Given the description of an element on the screen output the (x, y) to click on. 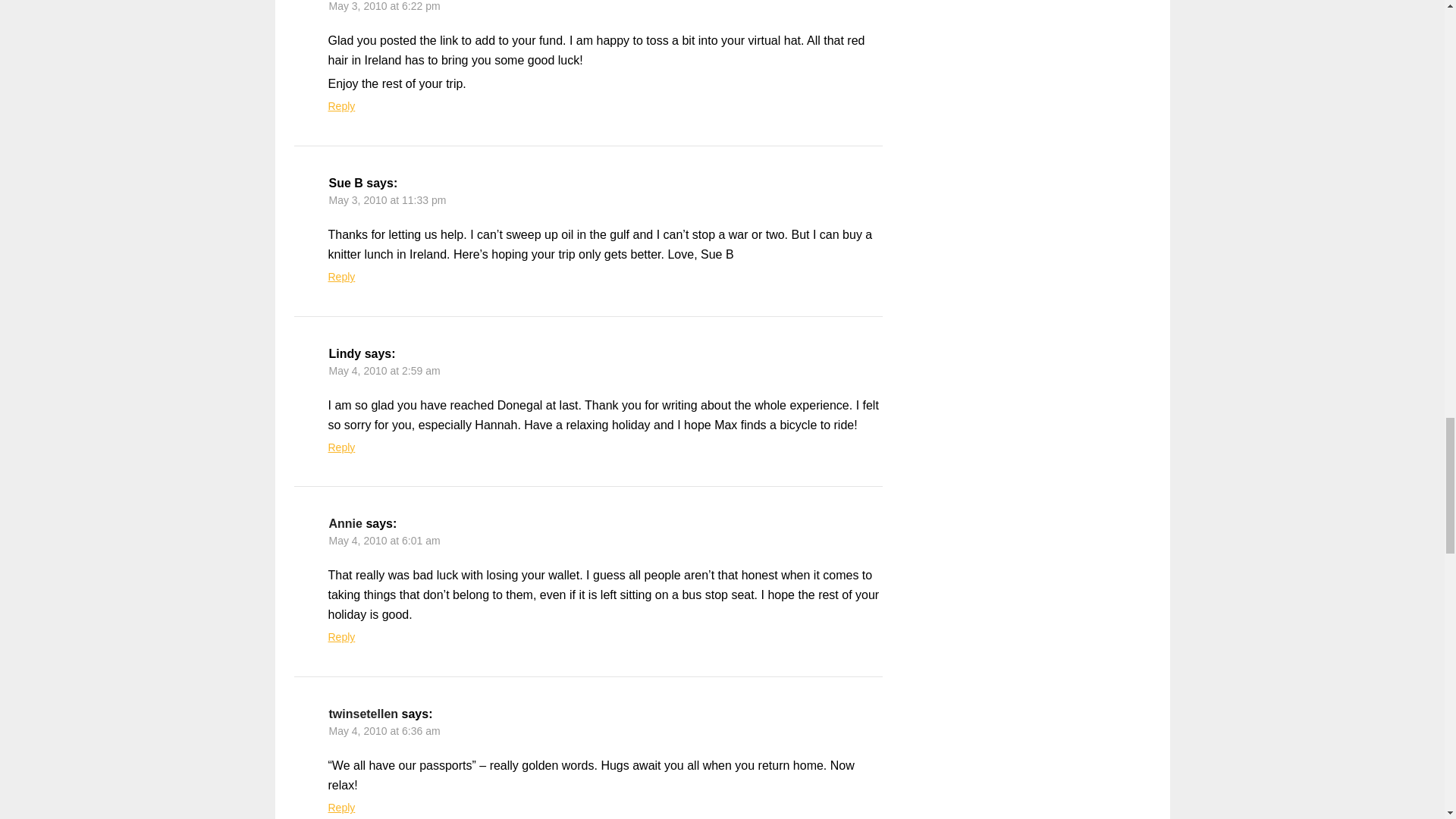
Reply (341, 807)
Reply (341, 276)
May 4, 2010 at 2:59 am (385, 370)
Reply (341, 105)
Reply (341, 447)
twinsetellen (363, 713)
May 3, 2010 at 11:33 pm (387, 200)
Annie (345, 522)
May 4, 2010 at 6:01 am (385, 540)
Reply (341, 636)
